Given the description of an element on the screen output the (x, y) to click on. 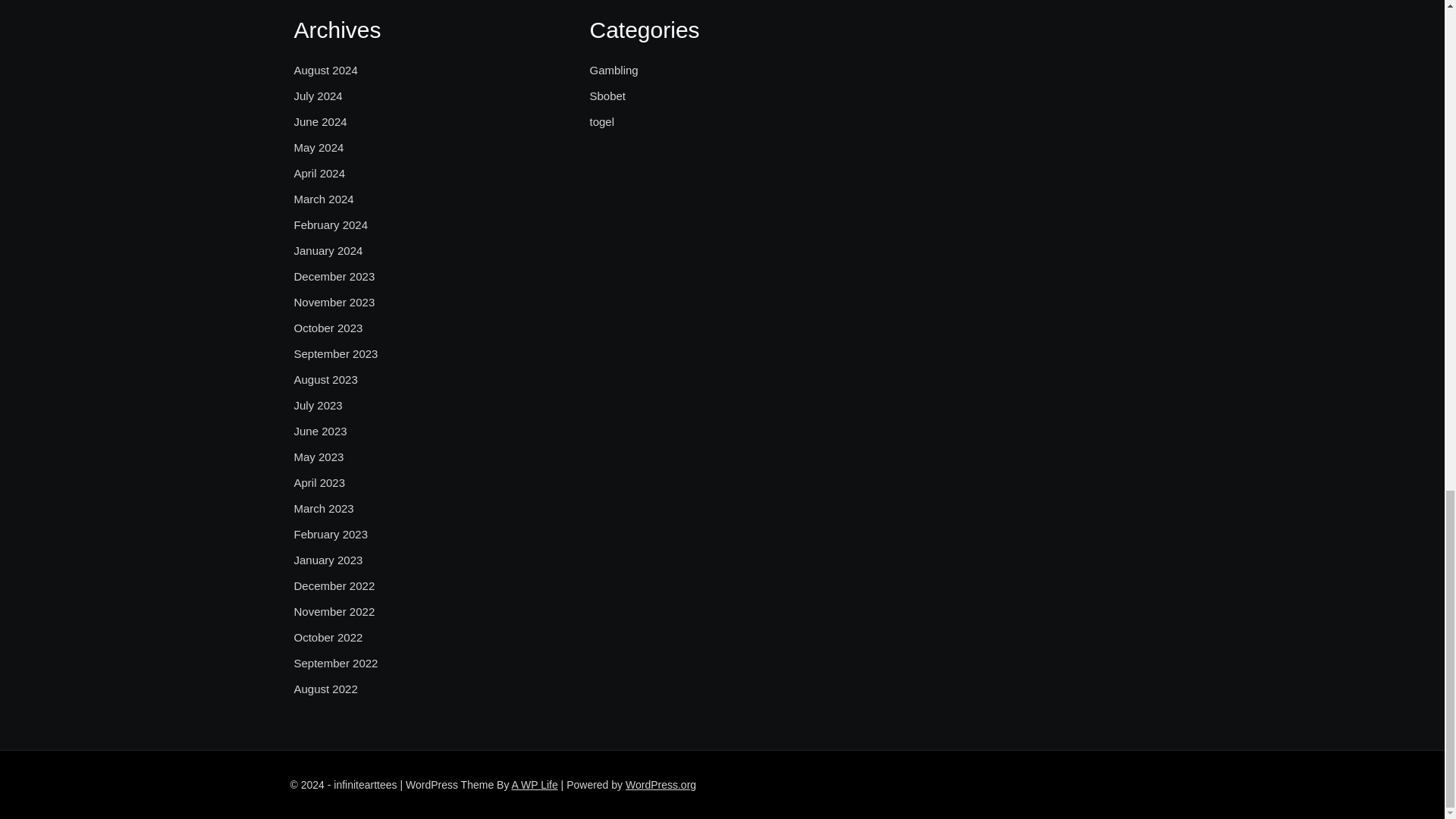
July 2024 (318, 95)
January 2023 (328, 560)
February 2023 (331, 534)
November 2023 (334, 302)
April 2024 (320, 173)
May 2023 (318, 456)
October 2022 (328, 637)
August 2024 (326, 70)
May 2024 (318, 147)
September 2023 (336, 353)
June 2024 (320, 122)
January 2024 (328, 250)
November 2022 (334, 611)
March 2024 (323, 199)
December 2022 (334, 586)
